Given the description of an element on the screen output the (x, y) to click on. 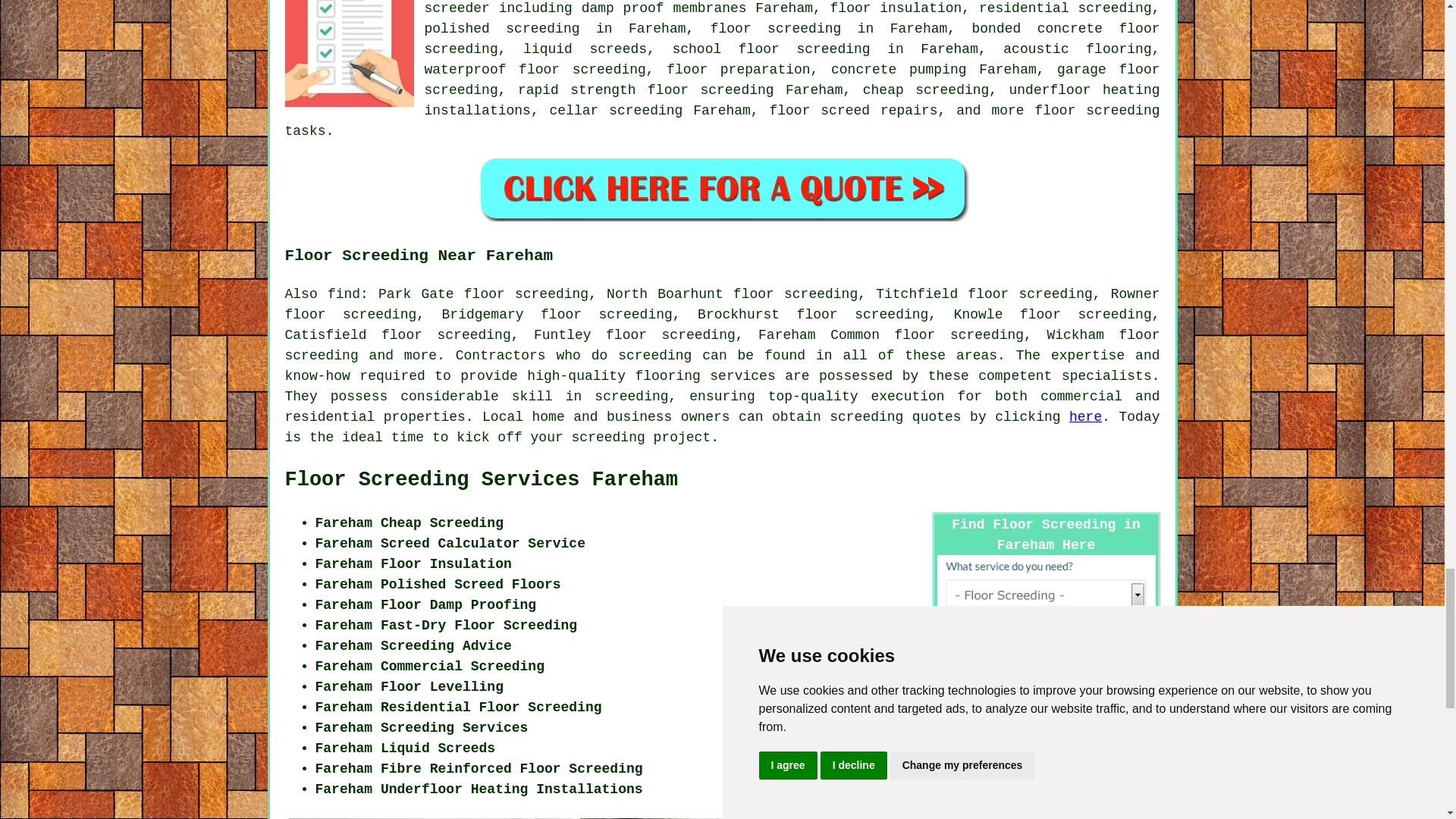
Screeding Related Tasks Fareham (349, 53)
screeding (654, 355)
screeding (631, 396)
